Given the description of an element on the screen output the (x, y) to click on. 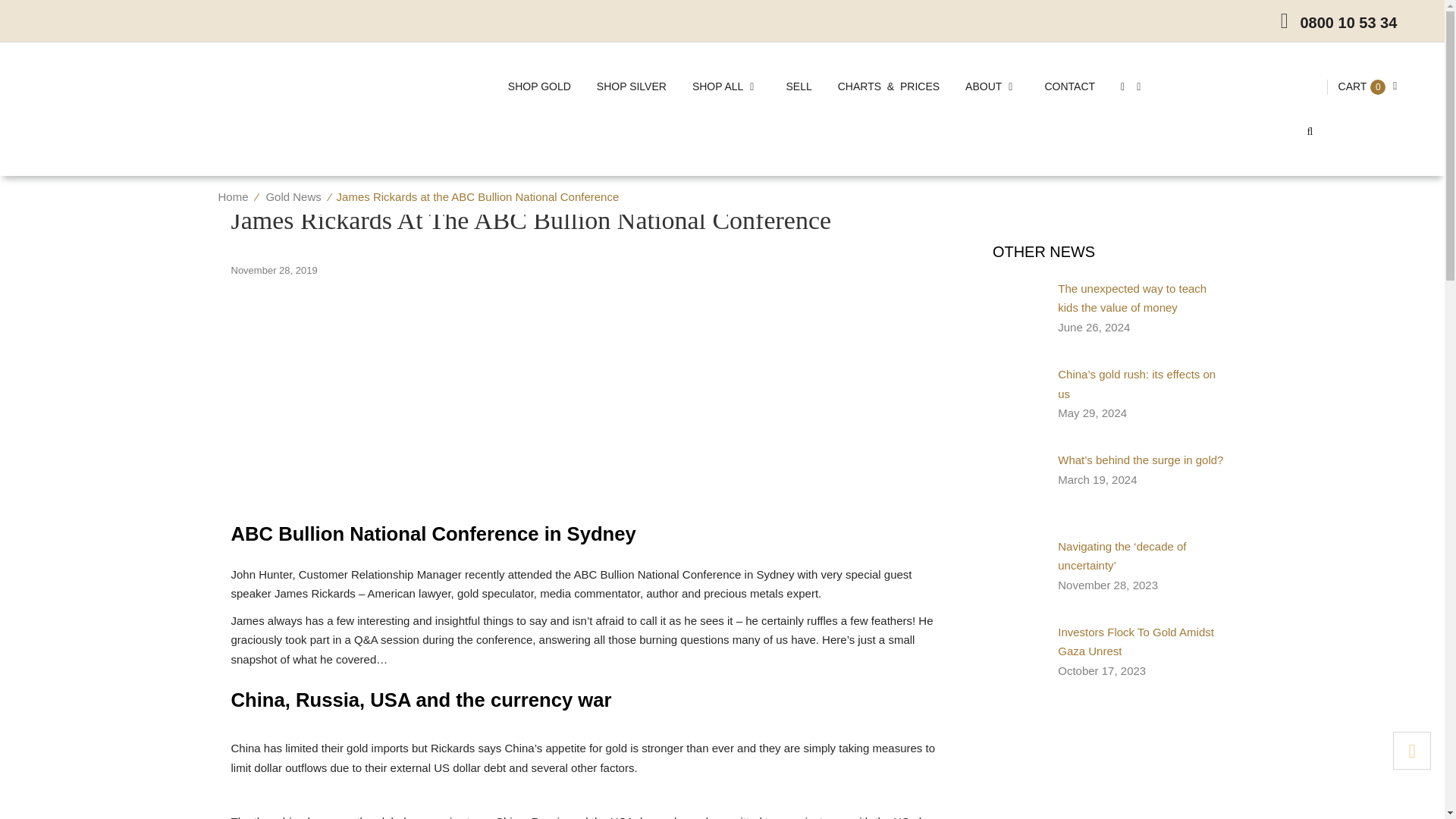
SHOP GOLD (539, 86)
cart (1352, 86)
SHOP ALL (726, 86)
0800 10 53 34 (1348, 22)
SHOP SILVER (631, 86)
